Given the description of an element on the screen output the (x, y) to click on. 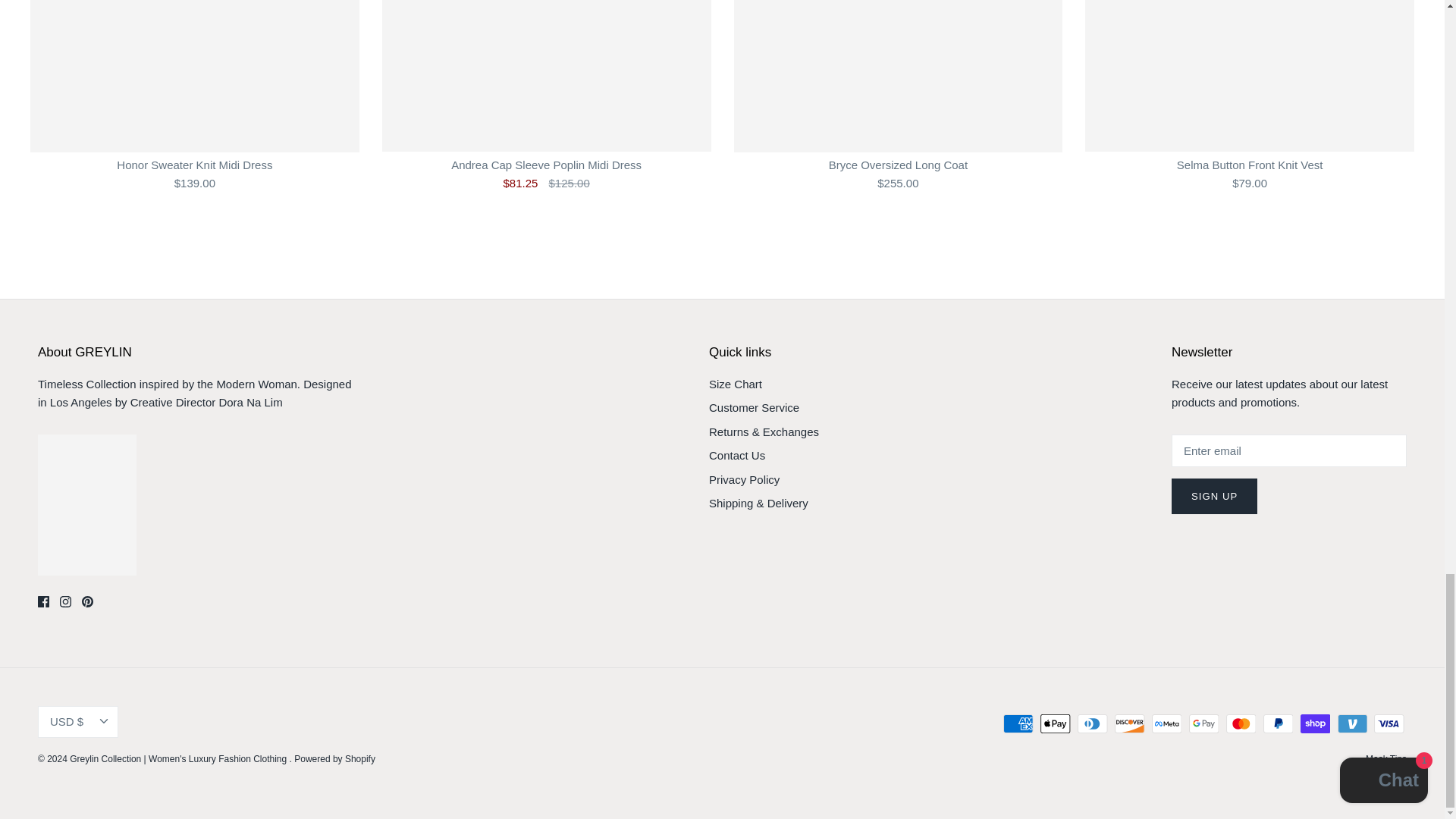
American Express (1018, 723)
Diners Club (1092, 723)
Apple Pay (1055, 723)
Instagram (65, 601)
Pinterest (87, 601)
Facebook (43, 601)
